Given the description of an element on the screen output the (x, y) to click on. 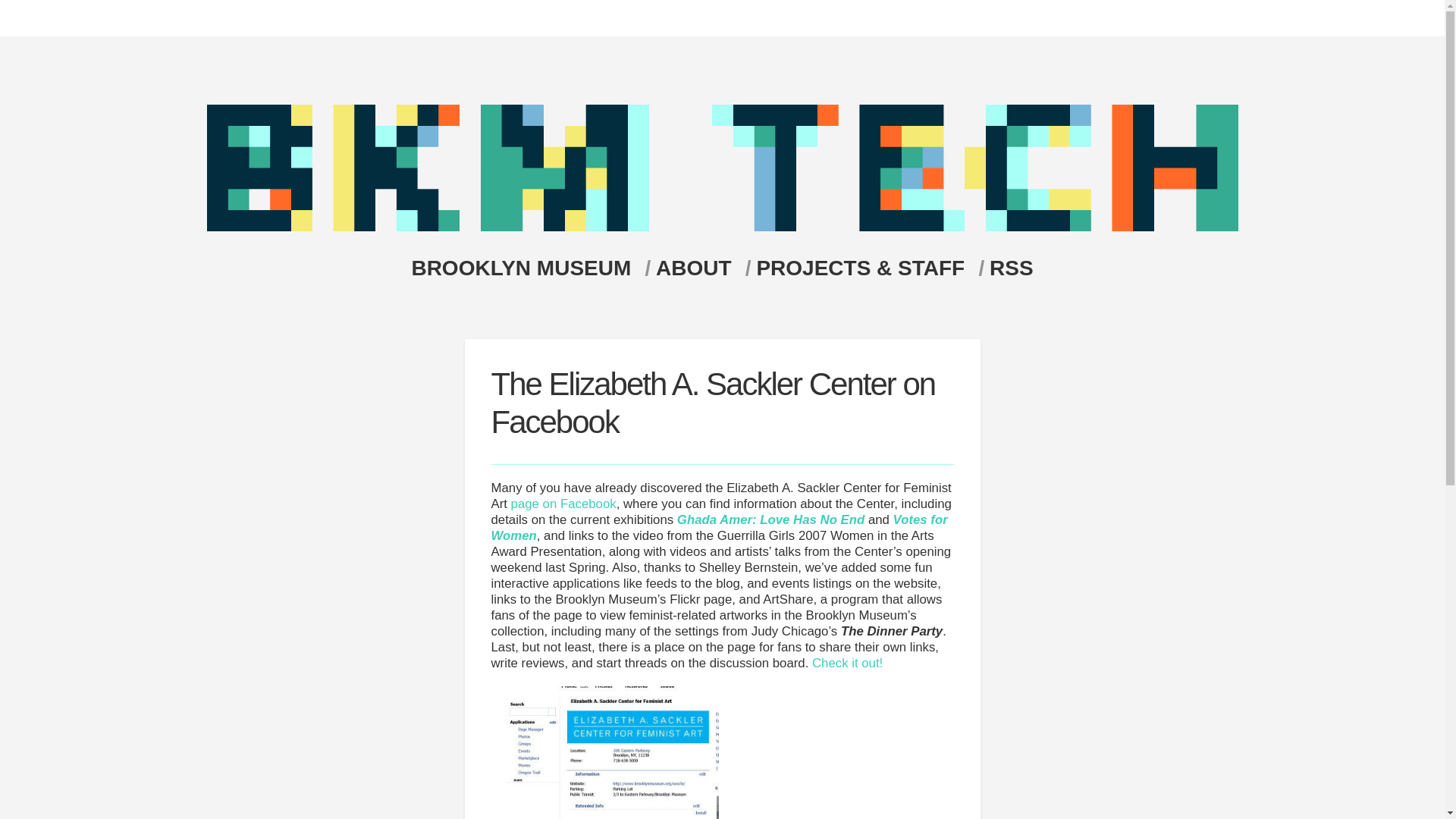
Votes for Women (719, 527)
page on Facebook (563, 503)
Ghada Amer: Love Has No End (770, 519)
RSS (1011, 268)
BKM TECH (721, 227)
BROOKLYN MUSEUM (529, 268)
ABOUT (703, 268)
BKM TECH (721, 167)
Check it out! (847, 663)
